Given the description of an element on the screen output the (x, y) to click on. 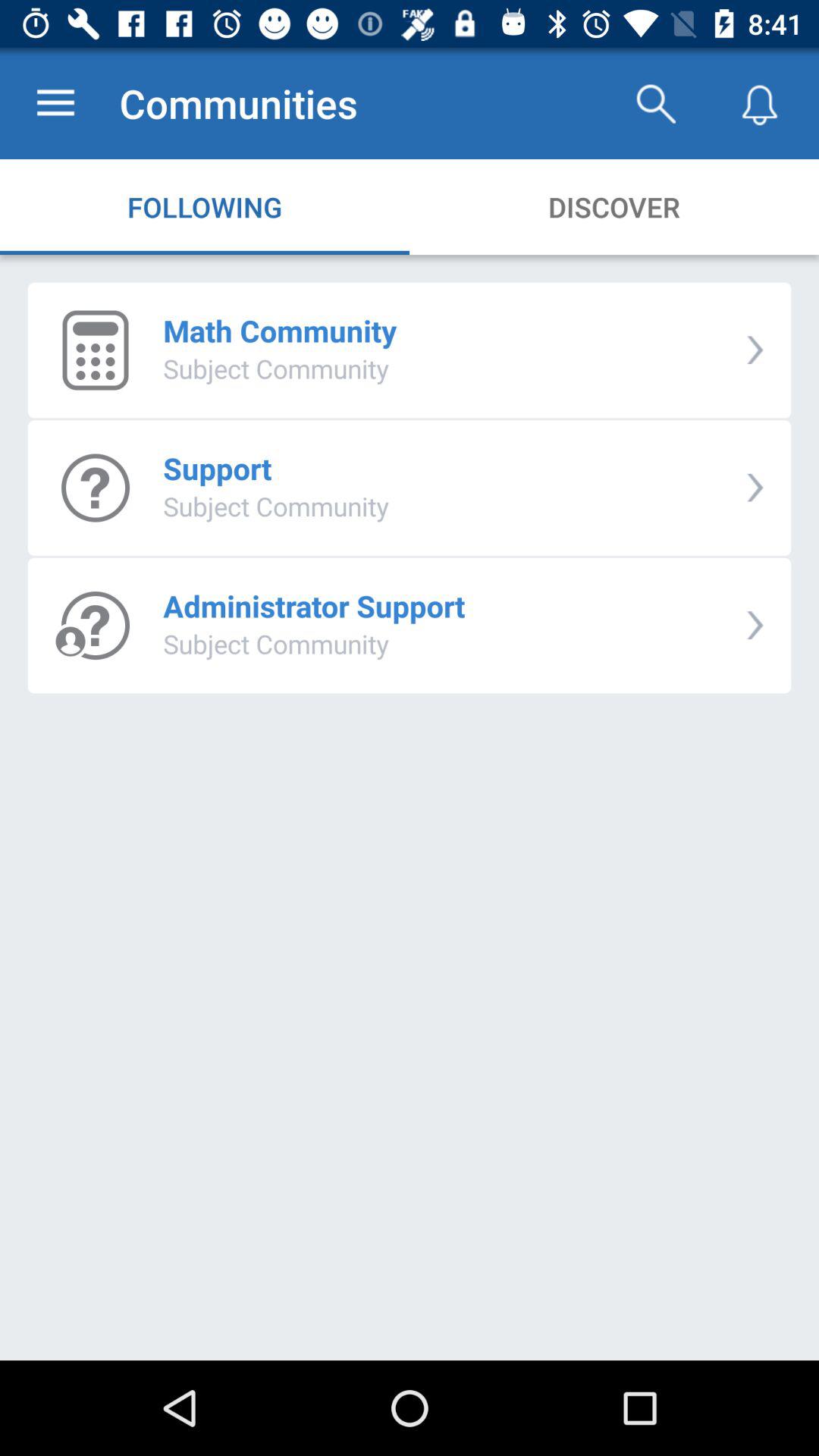
launch the item below the following (279, 330)
